Given the description of an element on the screen output the (x, y) to click on. 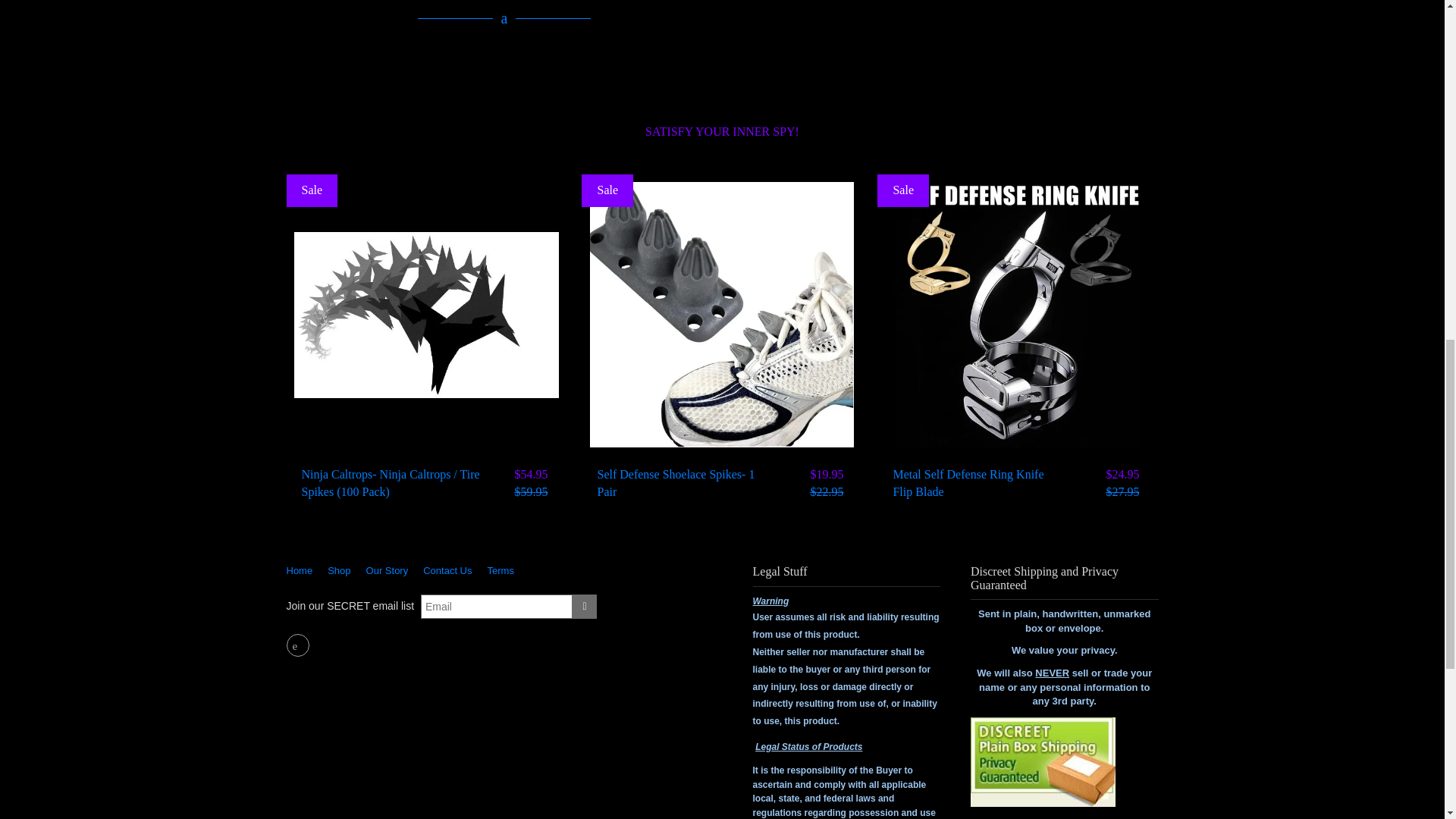
Sale (311, 190)
Sale (902, 190)
SATISFY YOUR INNER SPY! (722, 131)
Our Story (387, 570)
Terms (500, 570)
Shop (339, 570)
Sale (606, 190)
Contact Us (446, 570)
Home (303, 570)
